Given the description of an element on the screen output the (x, y) to click on. 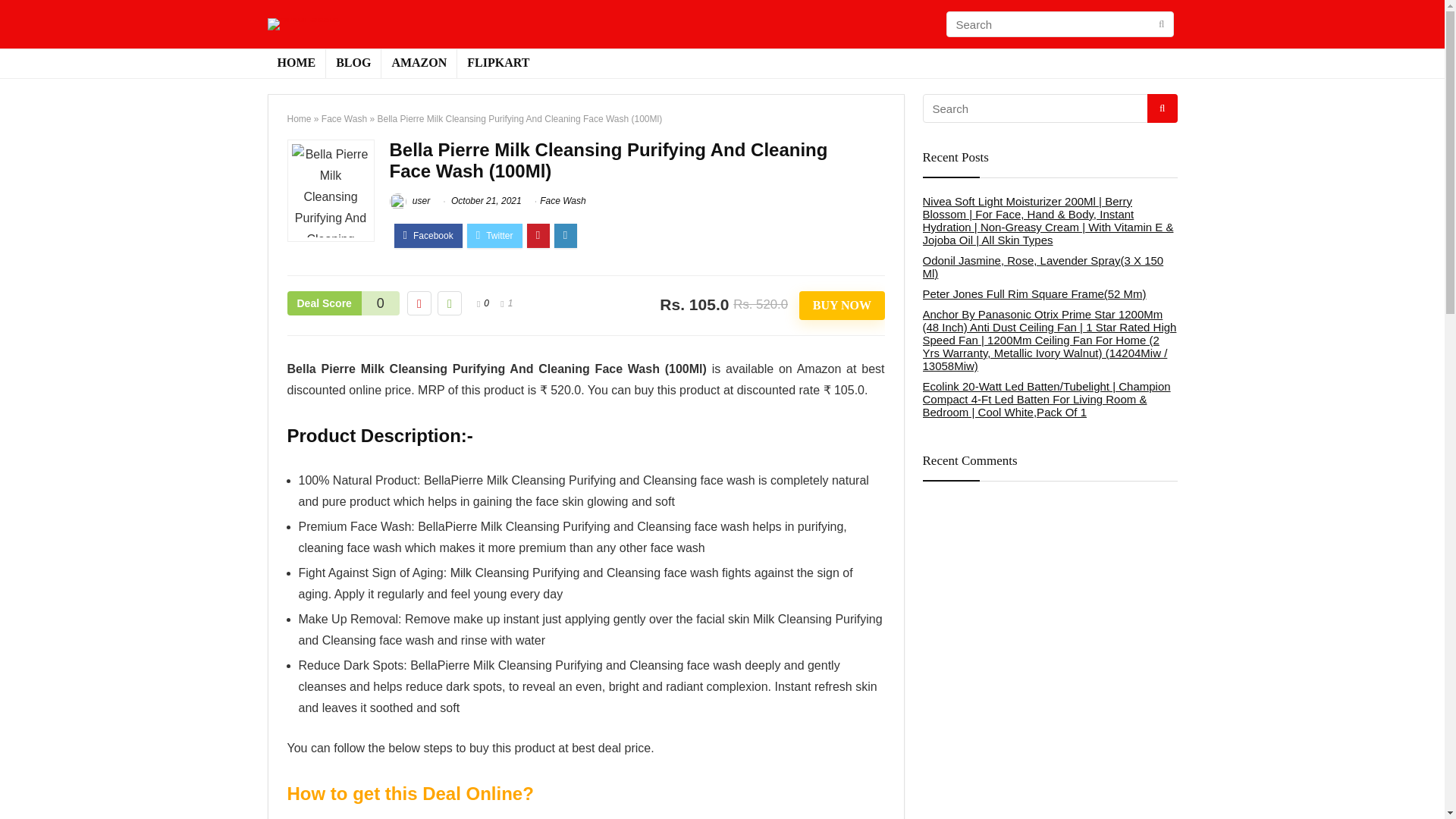
BUY NOW (841, 305)
HOME (295, 63)
FLIPKART (497, 63)
Face Wash (343, 118)
BLOG (353, 63)
View all posts in Face Wash (562, 200)
Vote down (418, 303)
user (410, 200)
AMAZON (419, 63)
Home (298, 118)
